Given the description of an element on the screen output the (x, y) to click on. 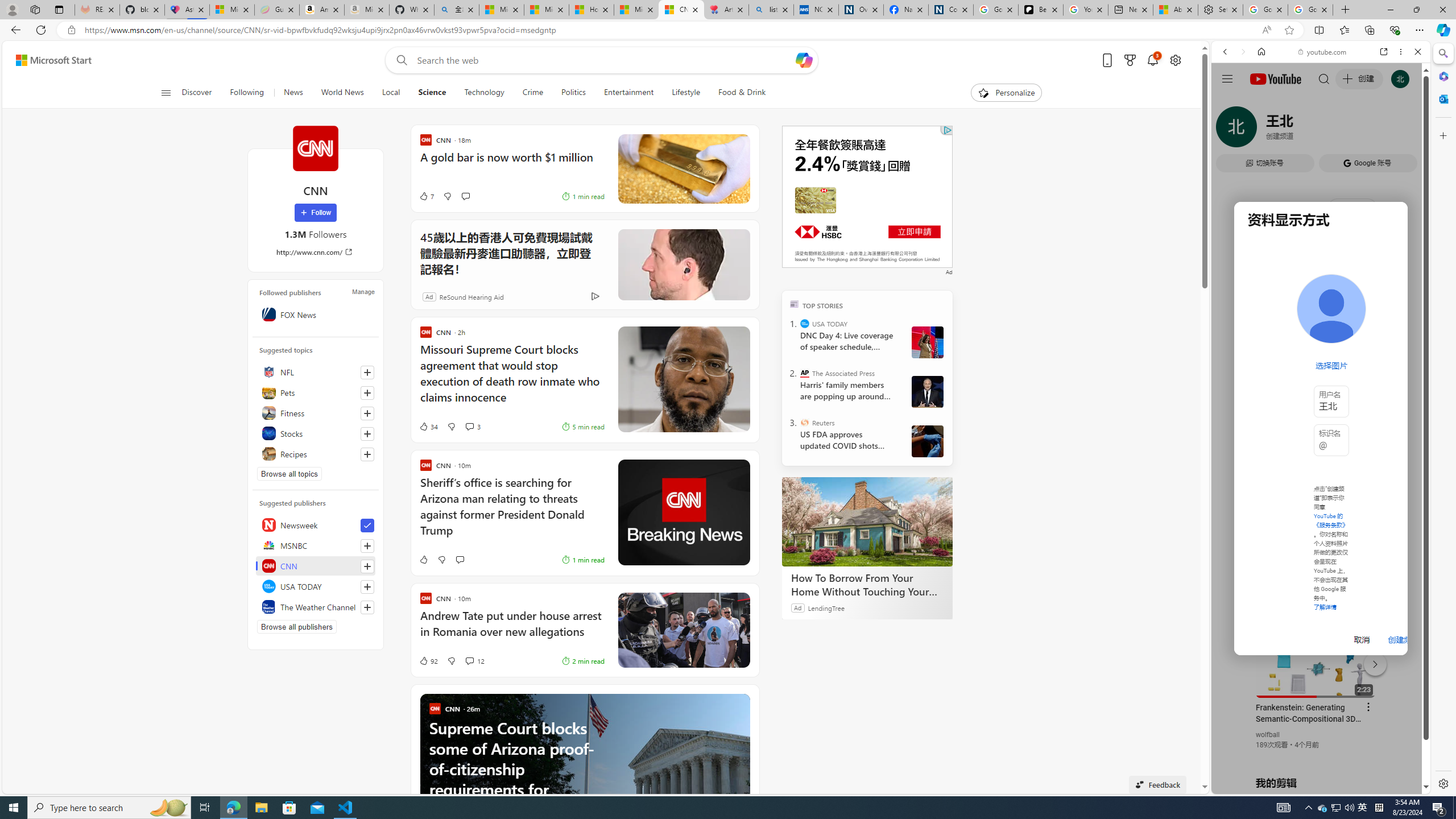
FOX News (315, 314)
#you (1320, 253)
Ad (429, 296)
Stocks (315, 433)
Recipes (315, 453)
Search Filter, Search Tools (1350, 129)
Aberdeen, Hong Kong SAR hourly forecast | Microsoft Weather (1175, 9)
Music (1320, 309)
Entertainment (628, 92)
USA TODAY (804, 323)
